Given the description of an element on the screen output the (x, y) to click on. 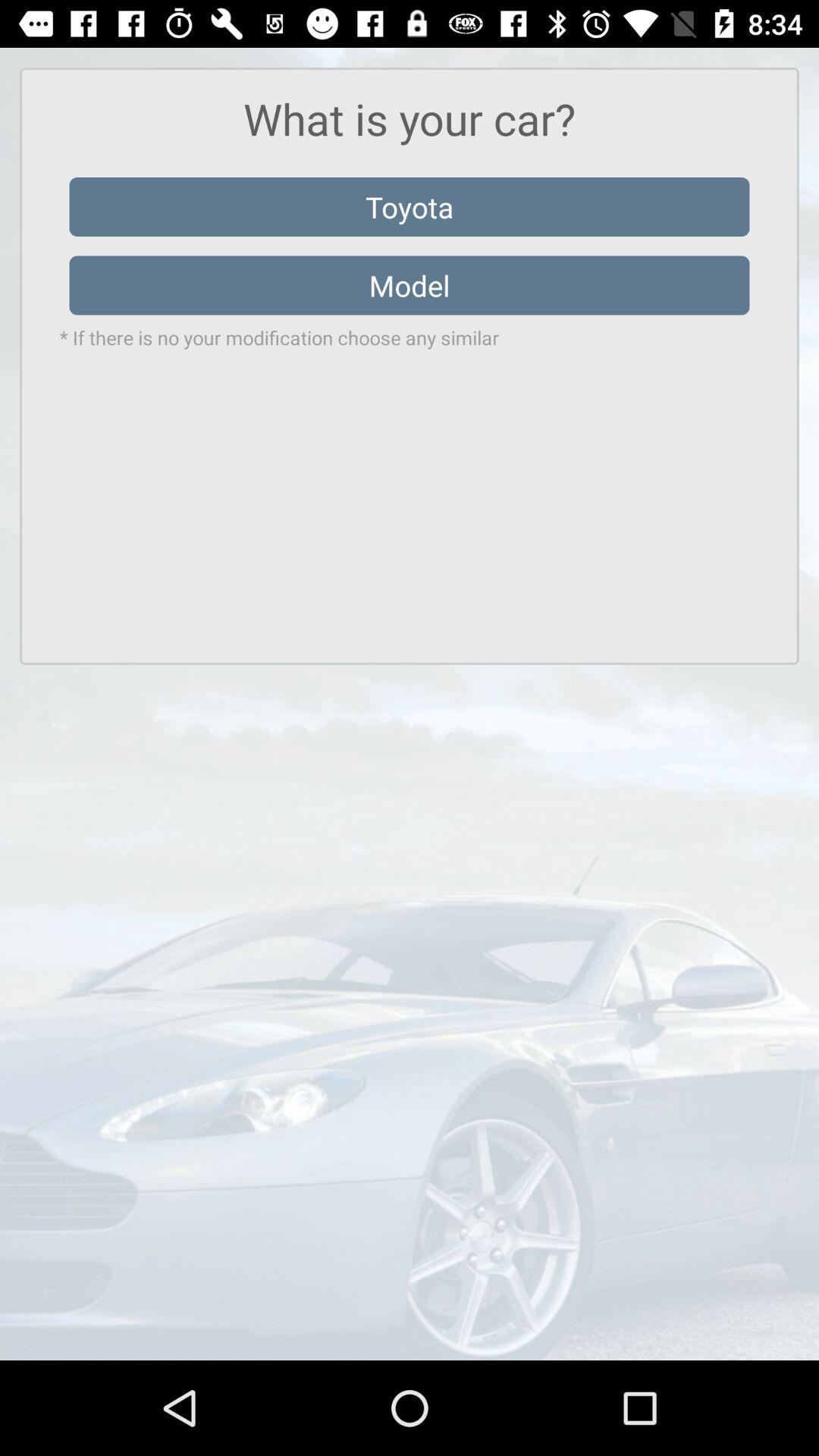
launch the item below the toyota item (409, 285)
